Given the description of an element on the screen output the (x, y) to click on. 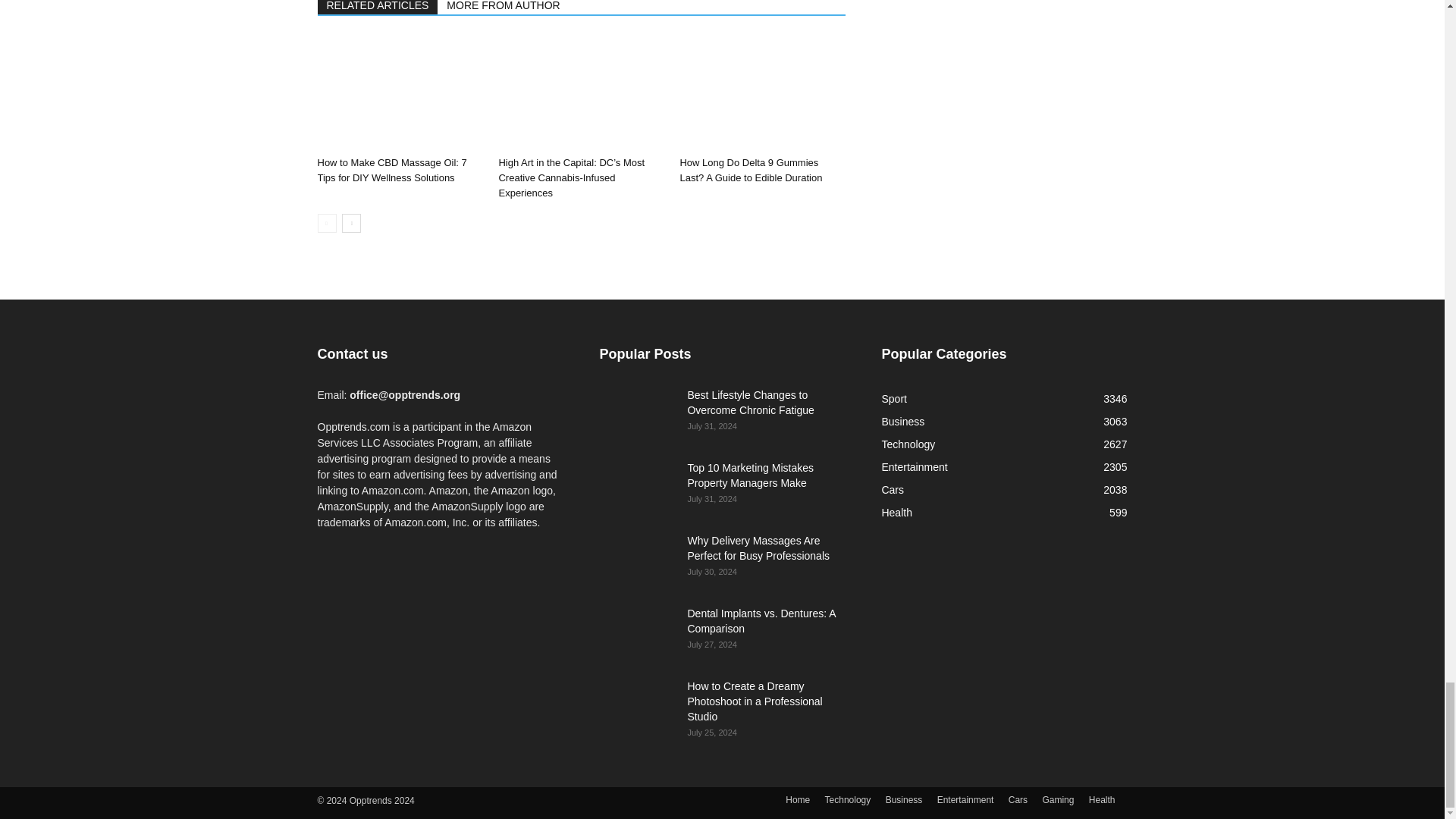
How Long Do Delta 9 Gummies Last? A Guide to Edible Duration (761, 92)
